Given the description of an element on the screen output the (x, y) to click on. 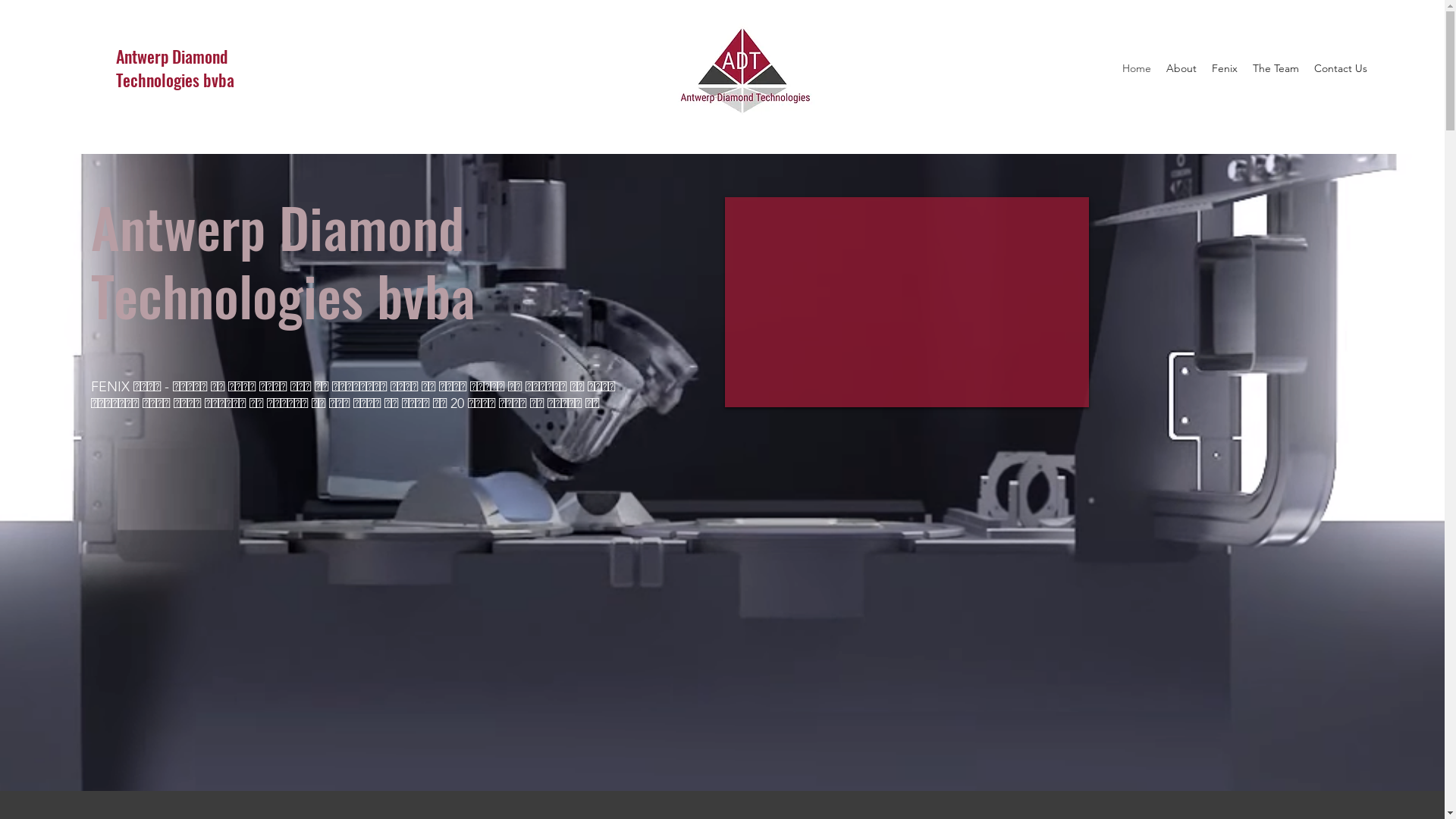
About Element type: text (1181, 67)
External Vimeo Element type: hover (906, 301)
Fenix Element type: text (1224, 67)
Antwerp Diamond Technologies bvba Element type: text (175, 67)
Contact Us Element type: text (1339, 67)
Home Element type: text (1136, 67)
The Team Element type: text (1275, 67)
